Given the description of an element on the screen output the (x, y) to click on. 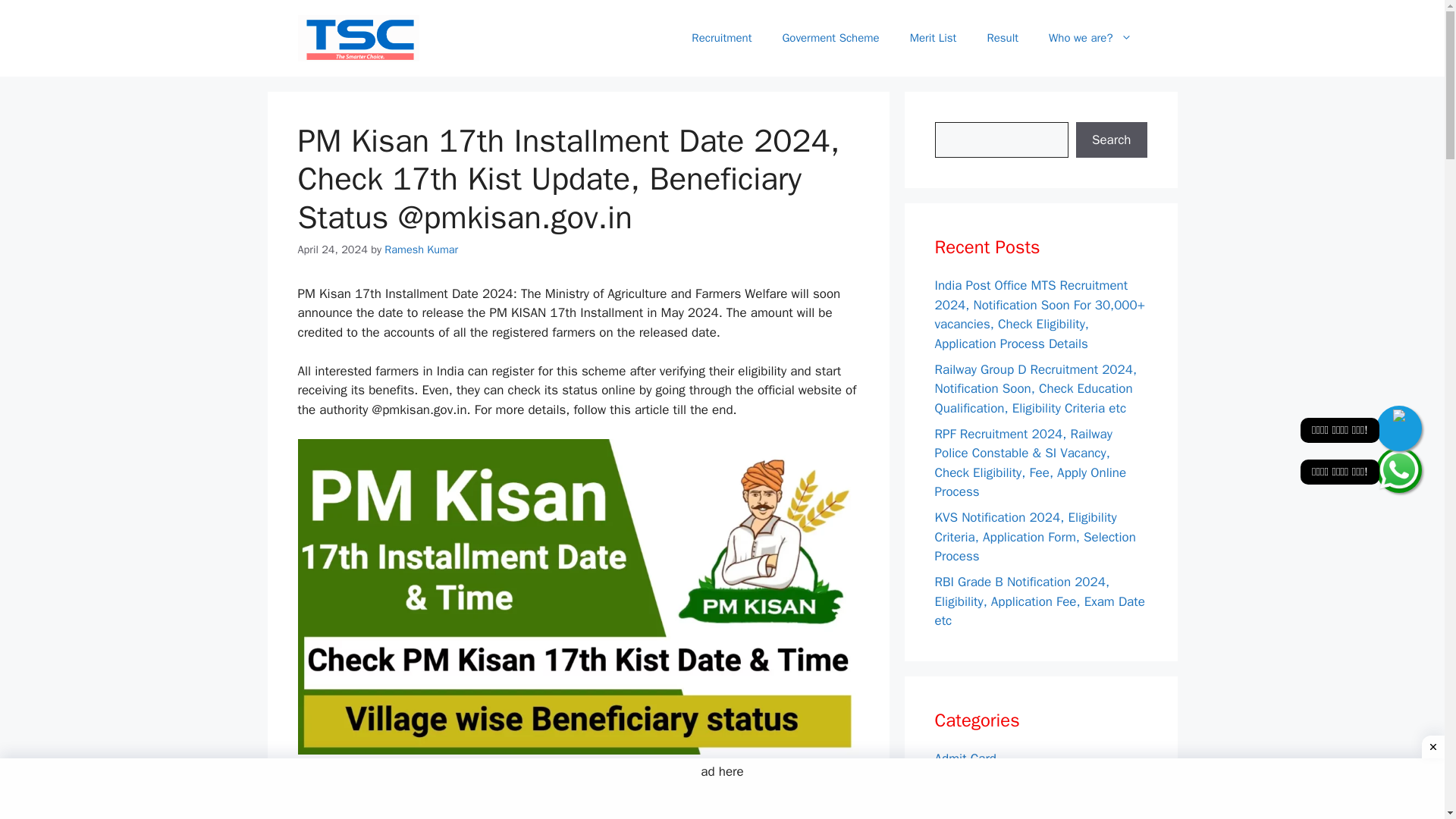
Admit Card (964, 758)
Goverment Scheme (988, 784)
Goverment Scheme (830, 37)
Who we are? (1090, 37)
Merit List (933, 37)
Result (1002, 37)
Ramesh Kumar (421, 249)
View all posts by Ramesh Kumar (421, 249)
Merit List (960, 810)
Search (1111, 140)
Recruitment (722, 37)
Chat on WhatsApp (1398, 470)
